Given the description of an element on the screen output the (x, y) to click on. 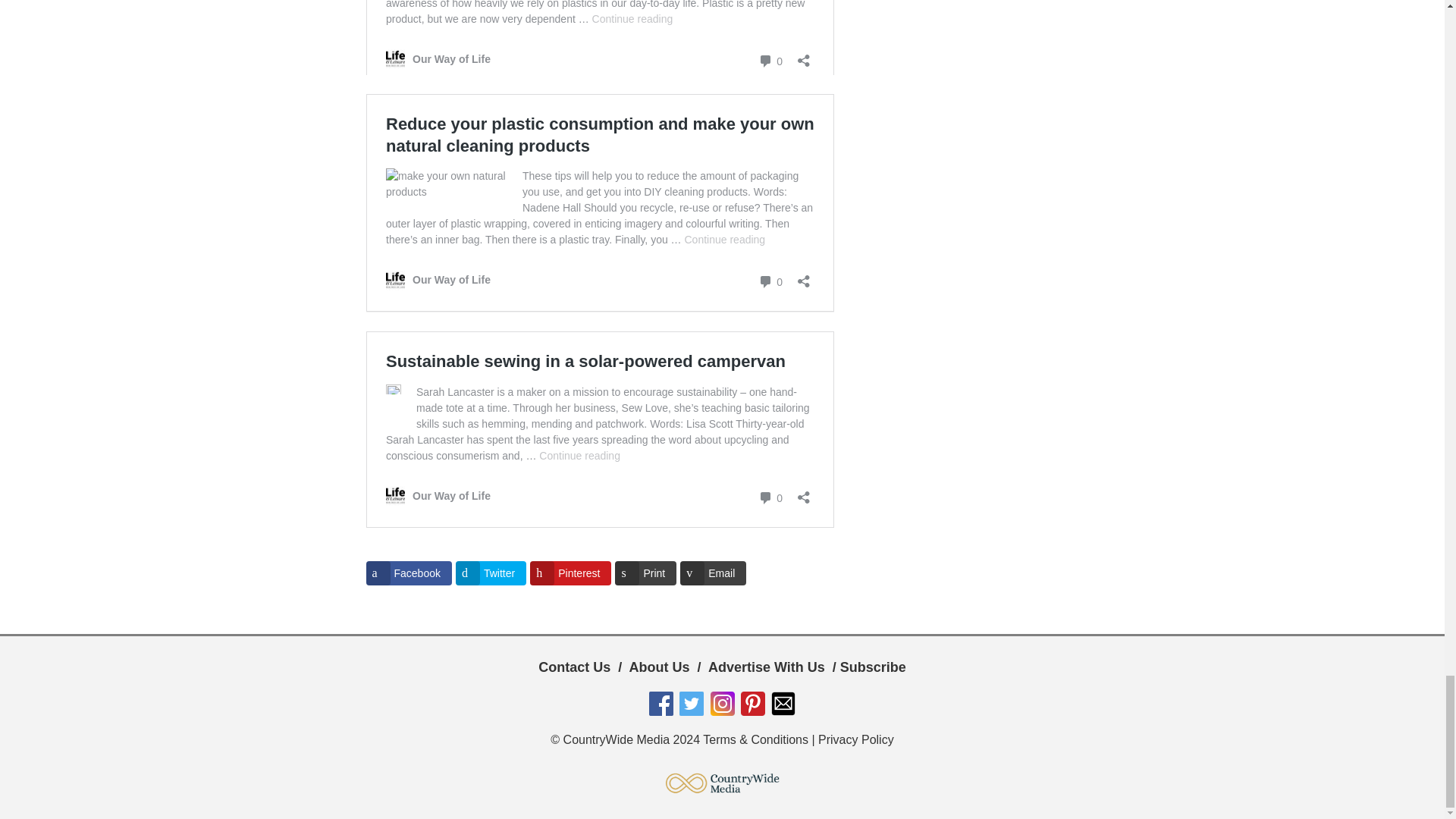
Share on Twitter (490, 573)
Share on Facebook (408, 573)
Share on Pinterest (570, 573)
Share on Print (645, 573)
Twitter (490, 573)
Pinterest (570, 573)
Facebook (408, 573)
Share on Email (712, 573)
